Given the description of an element on the screen output the (x, y) to click on. 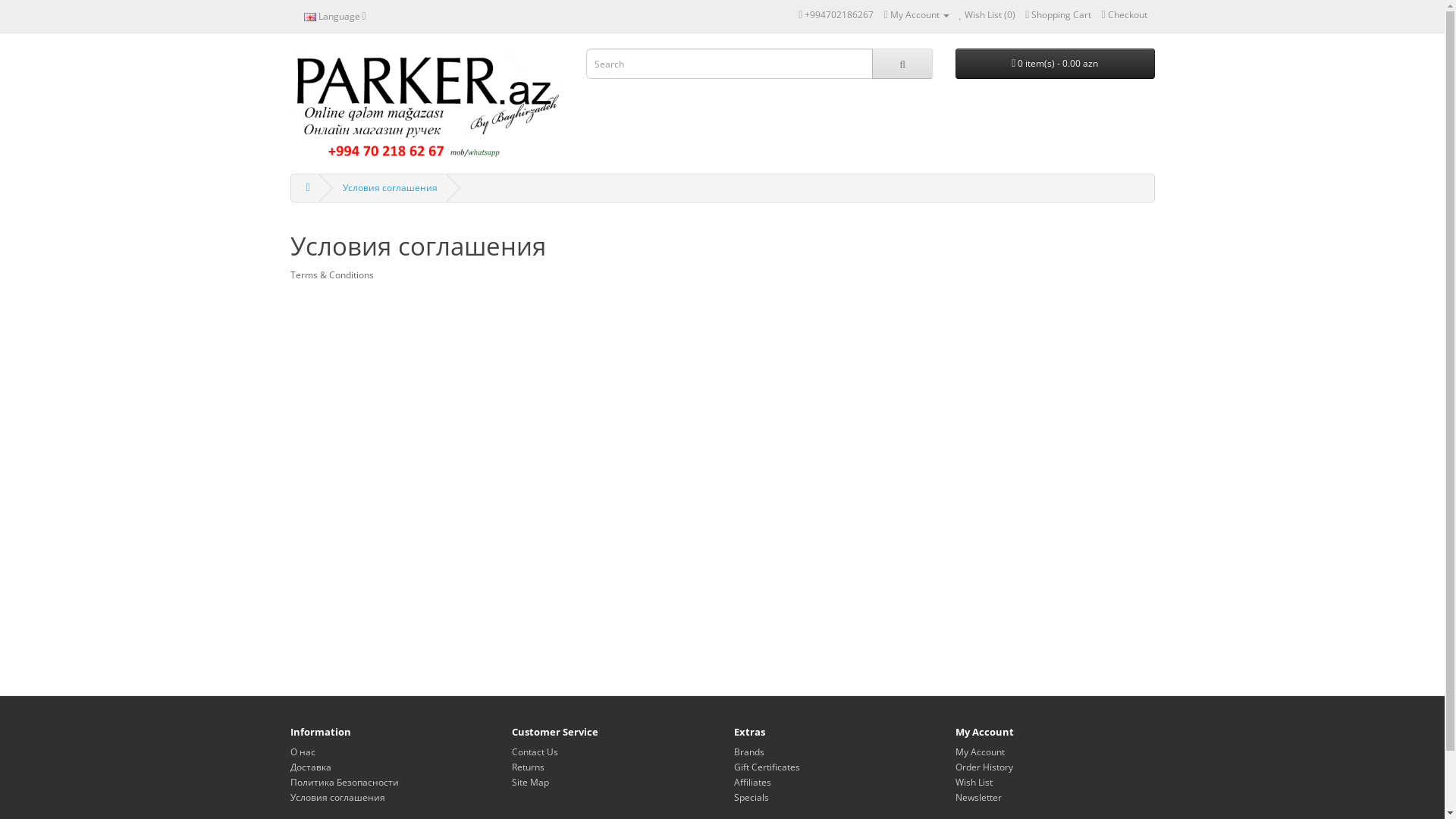
Order History Element type: text (984, 766)
Affiliates Element type: text (752, 781)
Language Element type: text (335, 15)
Returns Element type: text (527, 766)
Gift Certificates Element type: text (767, 766)
Shopping Cart Element type: text (1058, 14)
Newsletter Element type: text (978, 796)
My Account Element type: text (915, 14)
Checkout Element type: text (1123, 14)
My Account Element type: text (979, 751)
Site Map Element type: text (530, 781)
Specials Element type: text (751, 796)
Wish List Element type: text (973, 781)
Wish List (0) Element type: text (987, 14)
0 item(s) - 0.00 azn Element type: text (1054, 63)
Brands Element type: text (749, 751)
Contact Us Element type: text (534, 751)
